Given the description of an element on the screen output the (x, y) to click on. 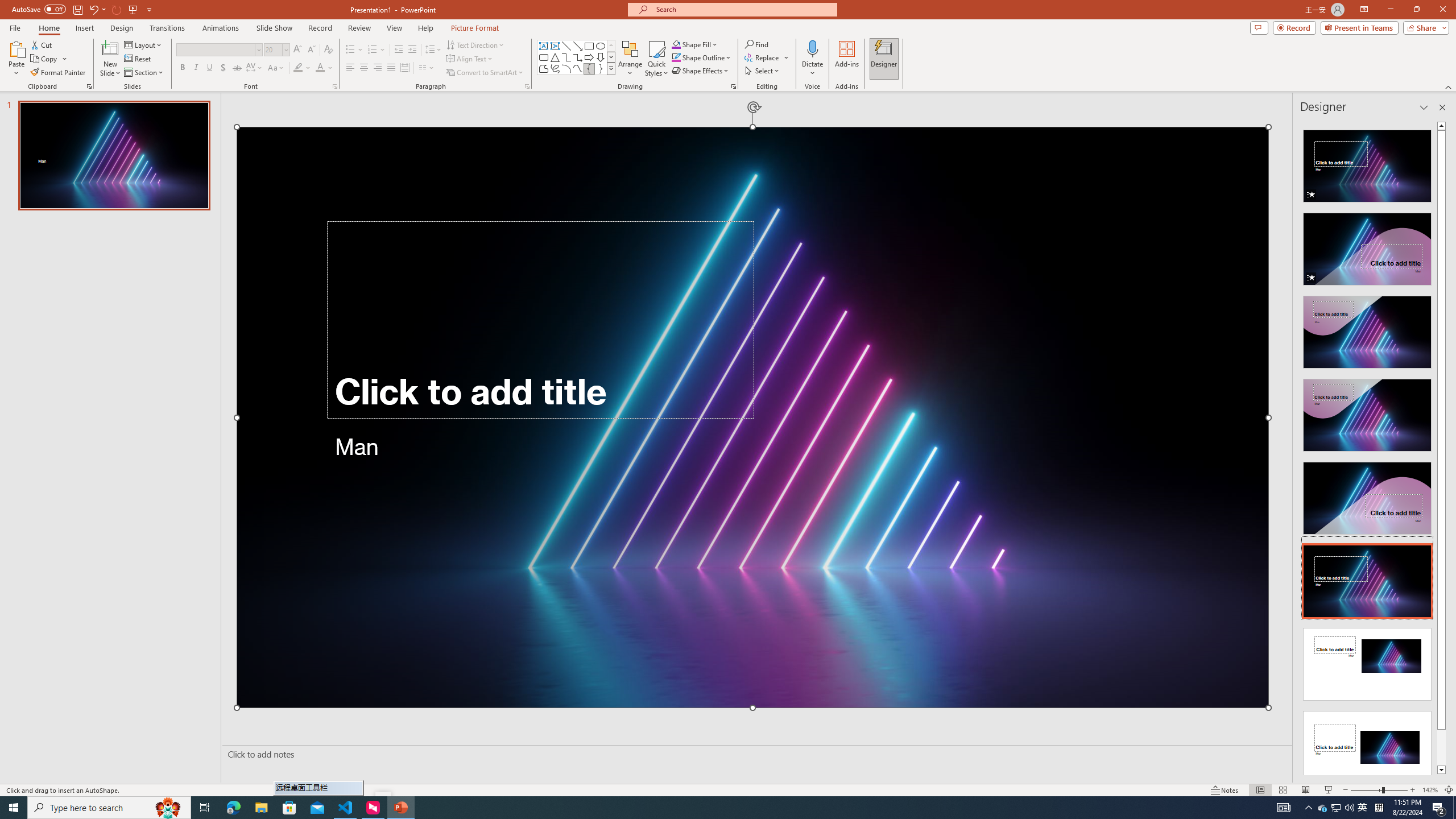
Picture Format (475, 28)
